Given the description of an element on the screen output the (x, y) to click on. 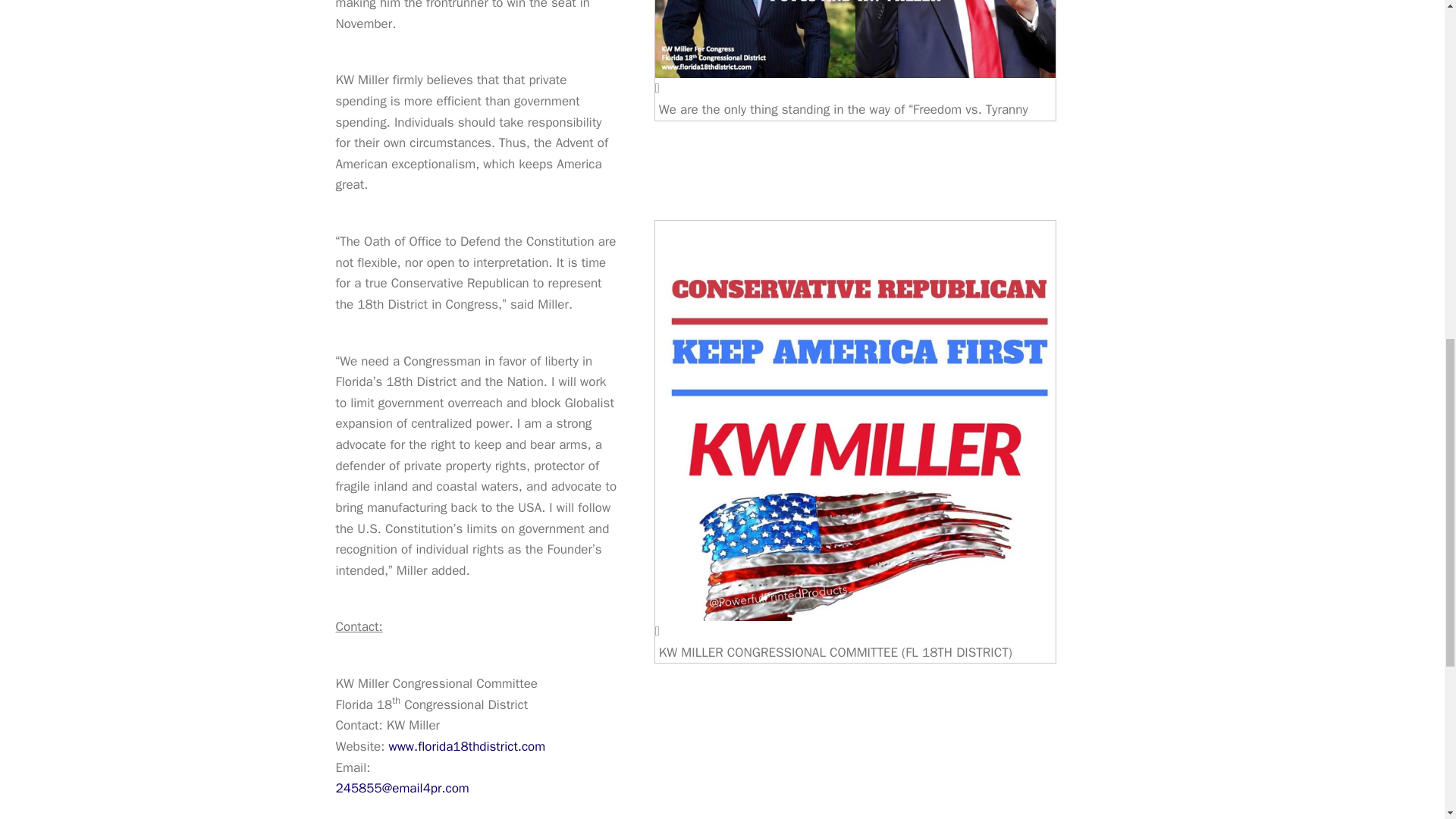
www.florida18thdistrict.com (466, 746)
